Given the description of an element on the screen output the (x, y) to click on. 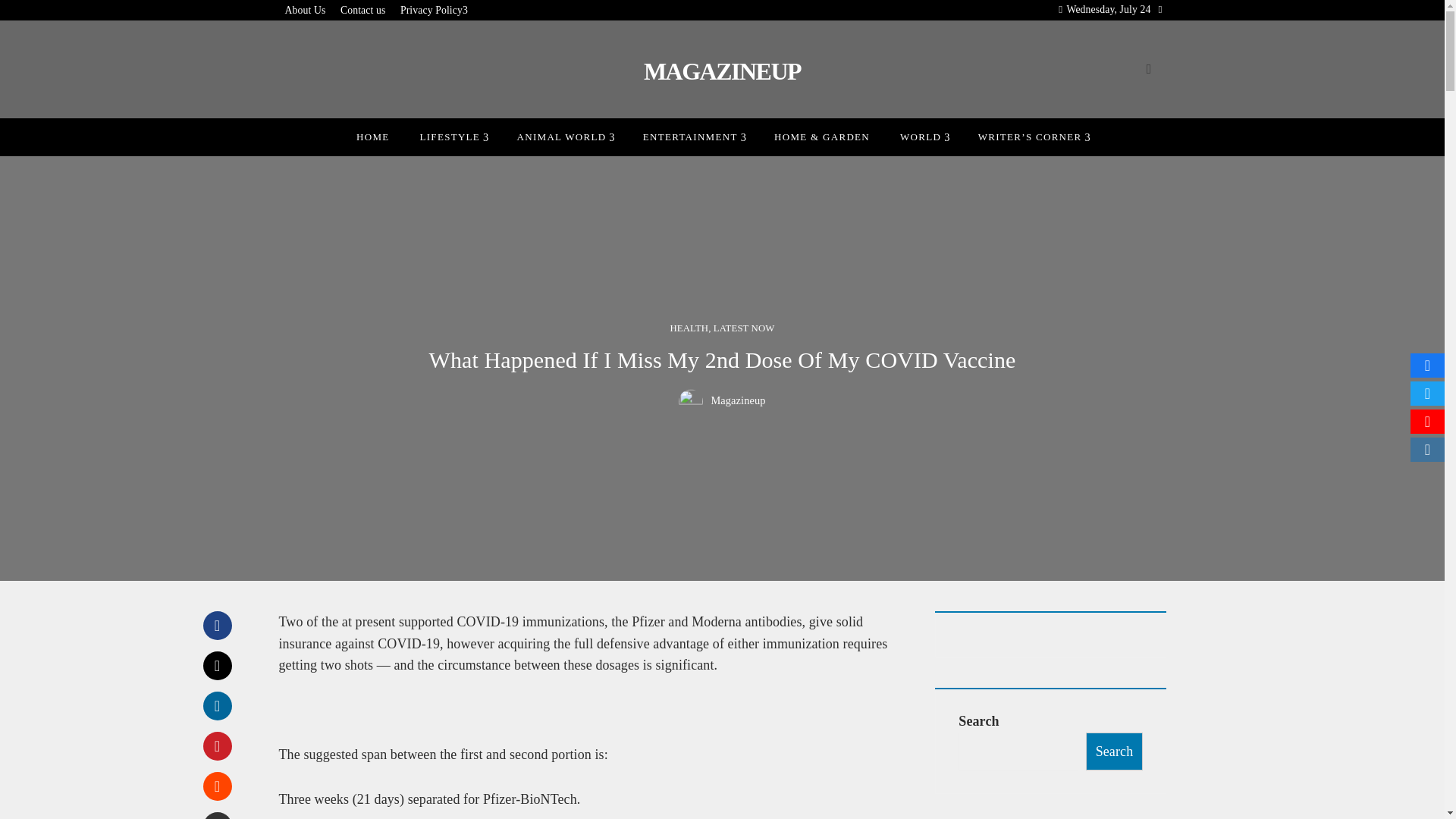
About Us (305, 10)
WORLD (923, 136)
ANIMAL WORLD (564, 136)
ENTERTAINMENT (692, 136)
LIFESTYLE (452, 136)
Privacy Policy (433, 10)
HOME (372, 136)
MAGAZINEUP (721, 71)
Contact us (362, 10)
